Given the description of an element on the screen output the (x, y) to click on. 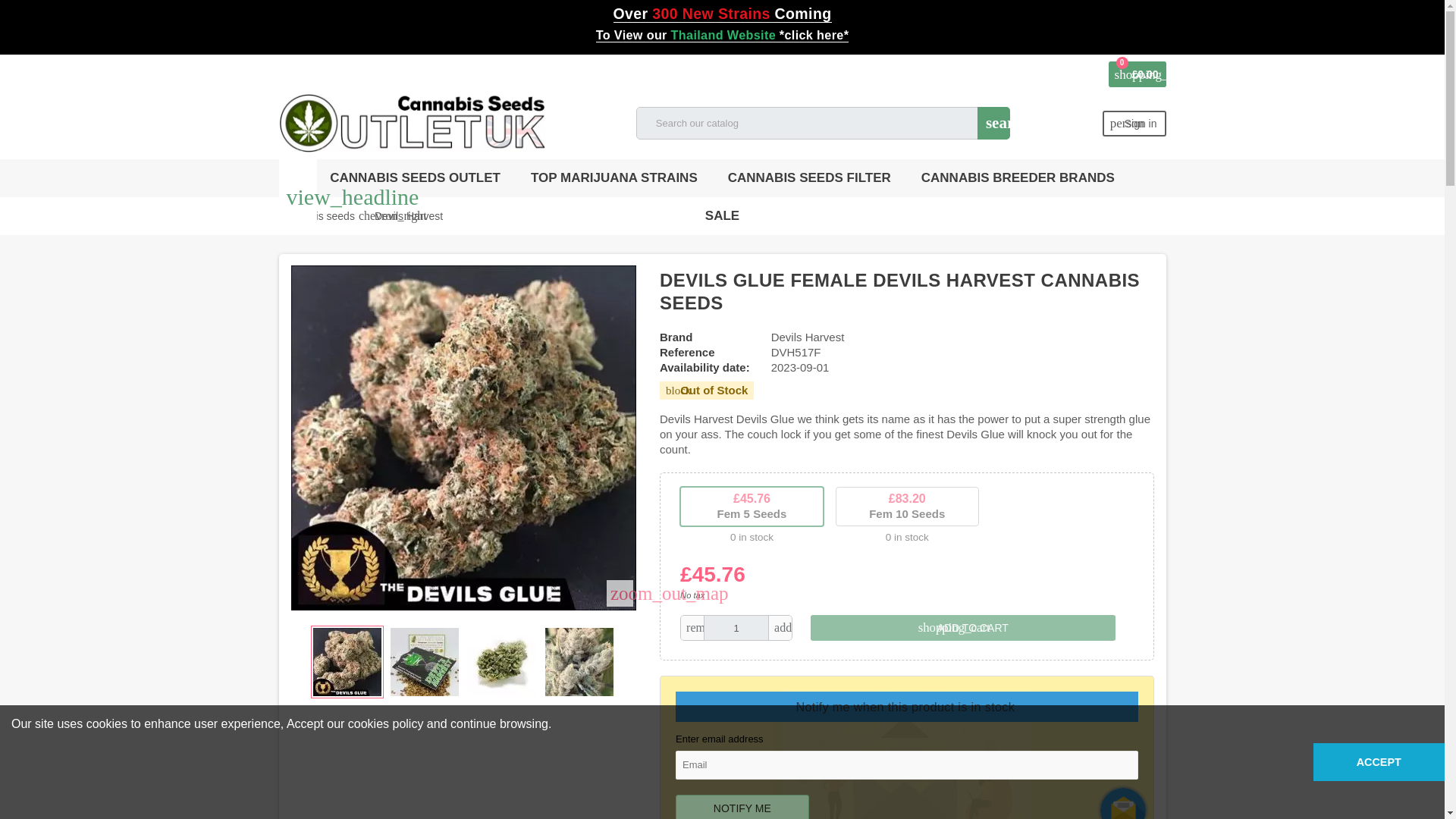
1 (735, 627)
